Given the description of an element on the screen output the (x, y) to click on. 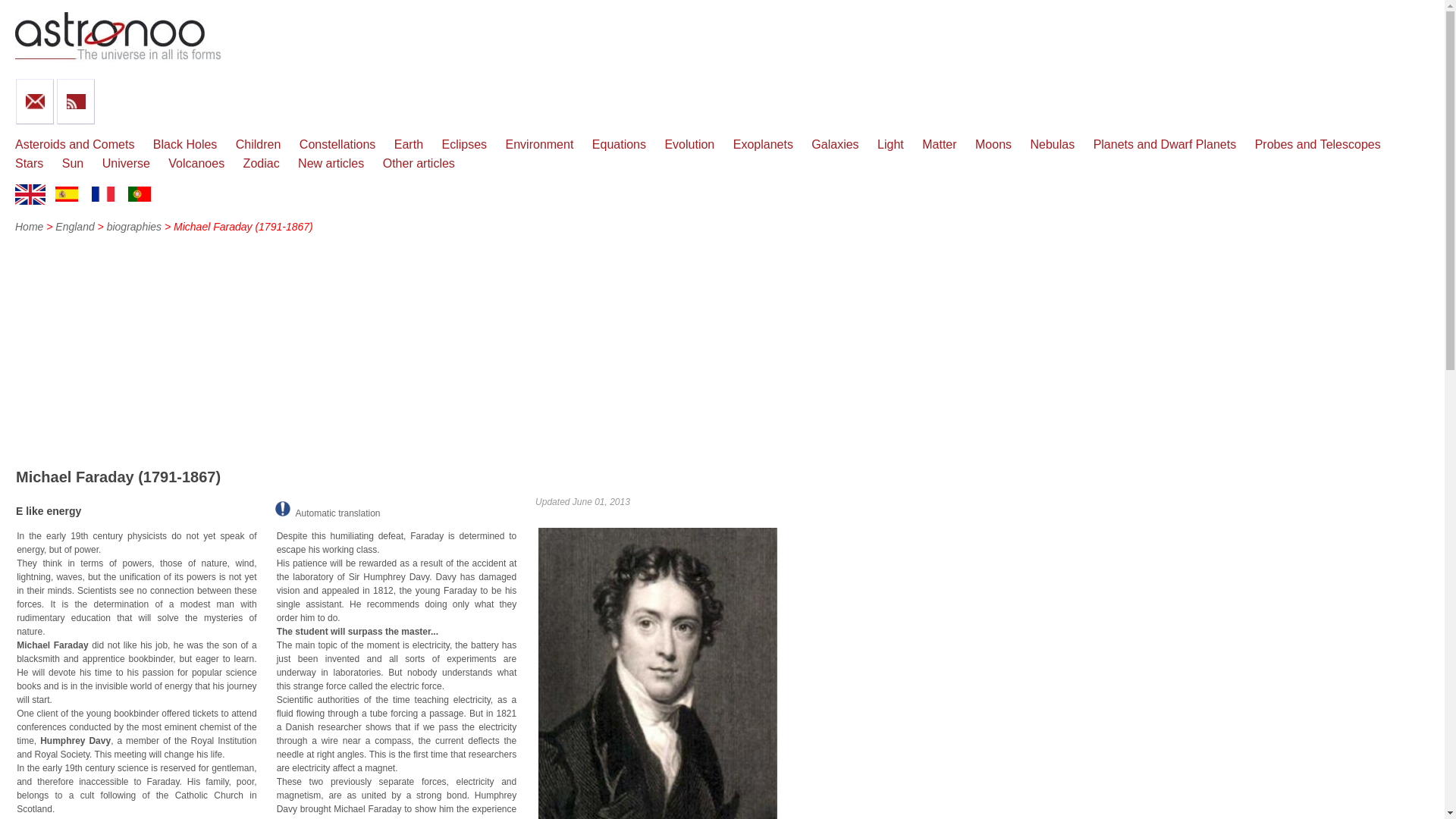
Home (28, 226)
Black Holes (184, 144)
New articles (331, 163)
Constellations (337, 144)
Exoplanets (763, 144)
Stars (28, 163)
Eclipses (463, 144)
Stars (28, 163)
Eclipses (463, 144)
Planets and Dwarf Planets (1164, 144)
Constellations (337, 144)
England (74, 226)
Children (258, 144)
Planets (1164, 144)
Probes and Telescopes (1317, 144)
